Given the description of an element on the screen output the (x, y) to click on. 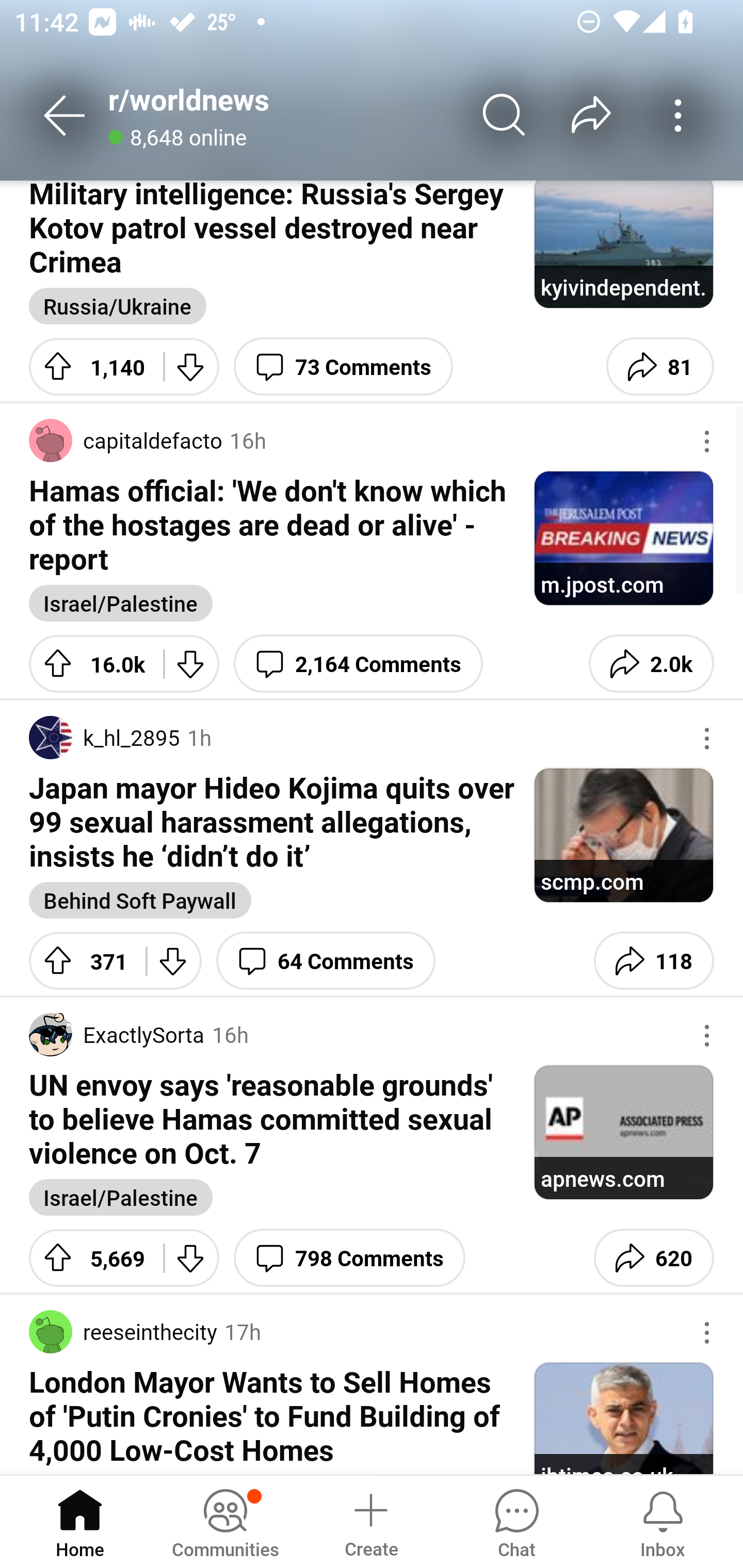
Back (64, 115)
Search r/﻿worldnews (504, 115)
Share r/﻿worldnews (591, 115)
More community actions (677, 115)
Thumbnail image kyivindependent.com (623, 244)
Russia/Ukraine (117, 306)
Upvote 1,140 (88, 366)
Downvote (191, 366)
73 Comments (343, 366)
Share 81 (660, 366)
Author capitaldefacto (125, 439)
Thumbnail image m.jpost.com (623, 538)
Israel/Palestine (120, 602)
Upvote 16.0k (88, 662)
Downvote (191, 662)
2,164 Comments (358, 662)
Share 2.0k (651, 662)
Author k_hl_2895 (103, 737)
Thumbnail image scmp.com (623, 834)
Behind Soft Paywall (139, 899)
Upvote 371 (79, 960)
Downvote (173, 960)
64 Comments (325, 960)
Share 118 (653, 960)
Author ExactlySorta (116, 1033)
Thumbnail image apnews.com (623, 1131)
Israel/Palestine (120, 1197)
Upvote 5,669 (88, 1257)
Downvote (191, 1257)
798 Comments (349, 1257)
Share 620 (653, 1257)
Author reeseinthecity (122, 1331)
Thumbnail image ibtimes.co.uk (623, 1417)
Home (80, 1520)
Communities, has notifications Communities (225, 1520)
Create a post Create (370, 1520)
Chat (516, 1520)
Inbox (662, 1520)
